Given the description of an element on the screen output the (x, y) to click on. 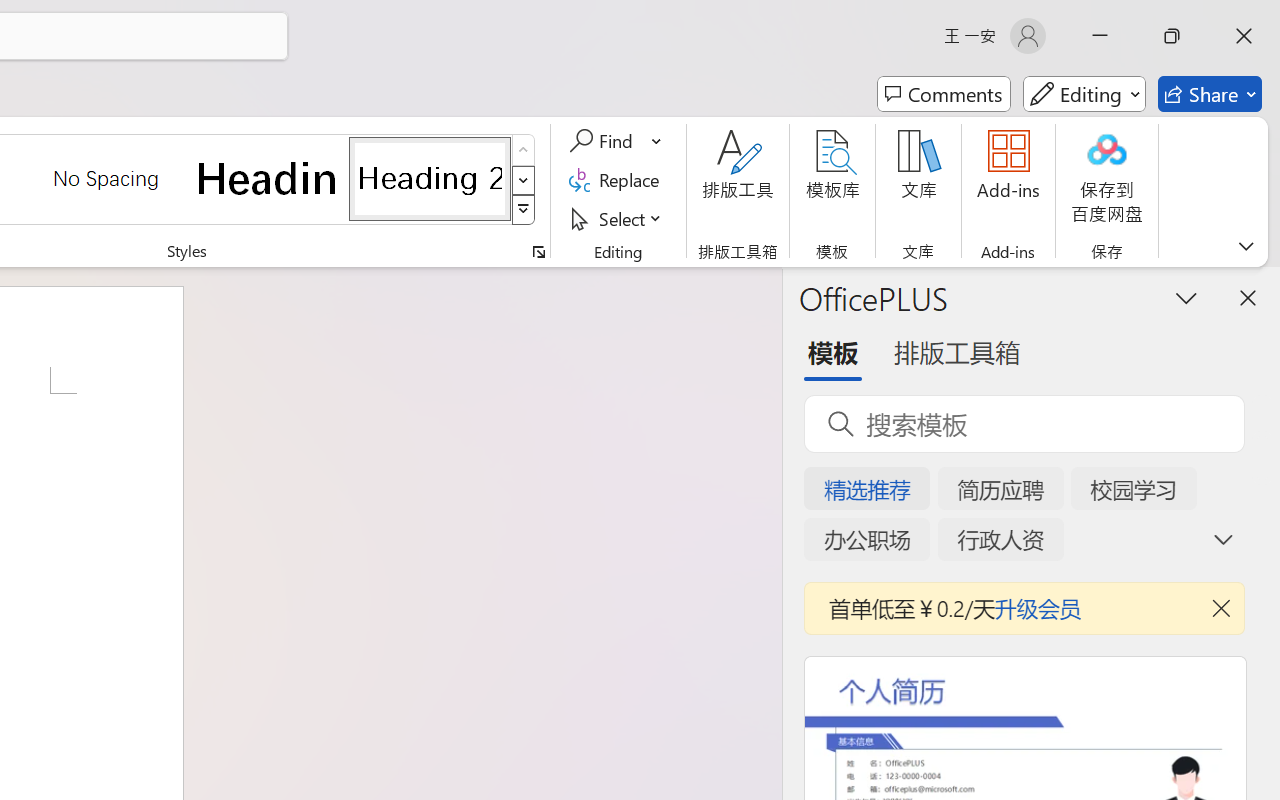
Comments (943, 94)
Replace... (617, 179)
Heading 2 (429, 178)
Mode (1083, 94)
More Options (657, 141)
Find (616, 141)
Class: NetUIImage (523, 210)
Close (1244, 36)
